Given the description of an element on the screen output the (x, y) to click on. 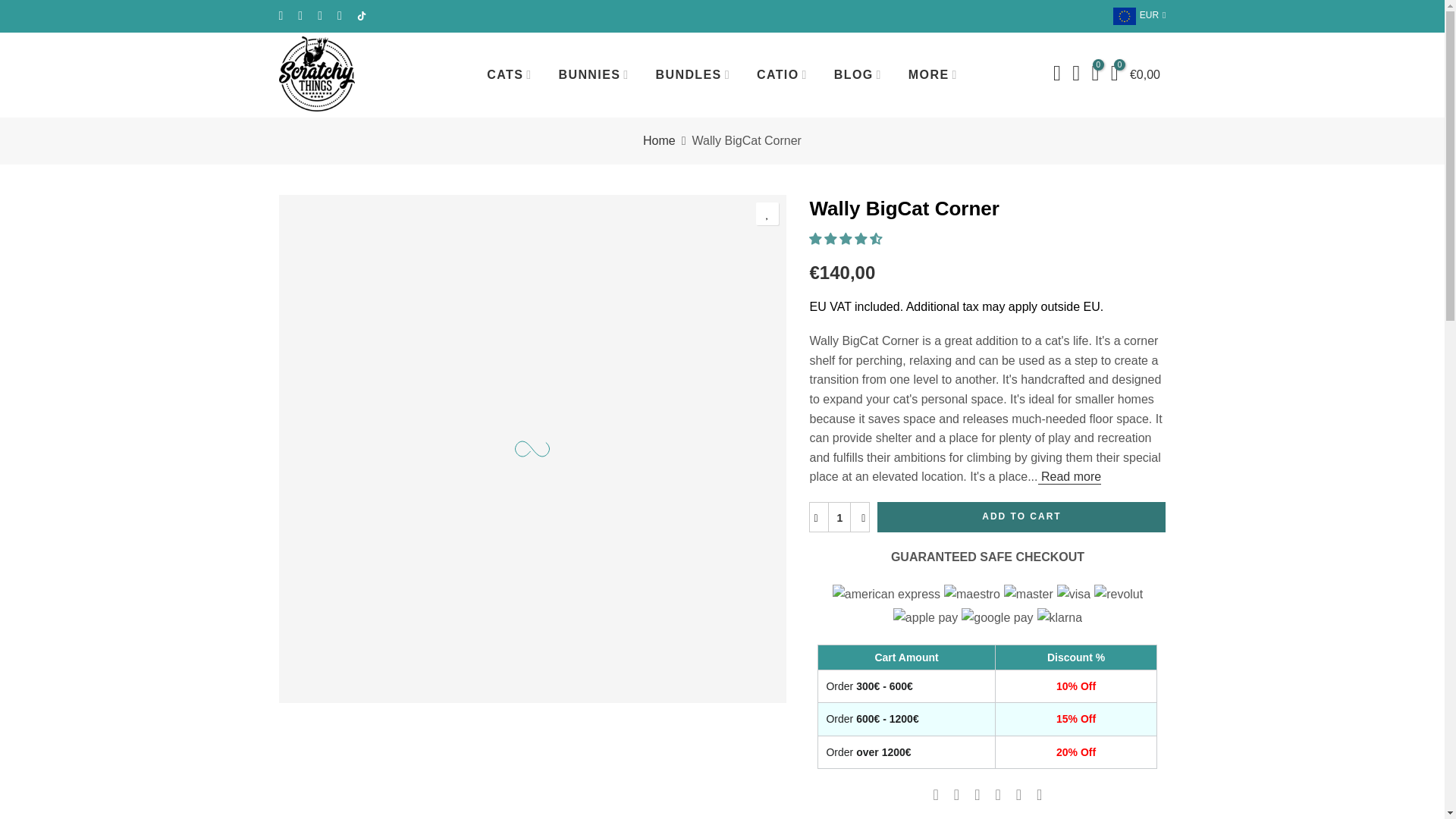
CATS (509, 74)
